Given the description of an element on the screen output the (x, y) to click on. 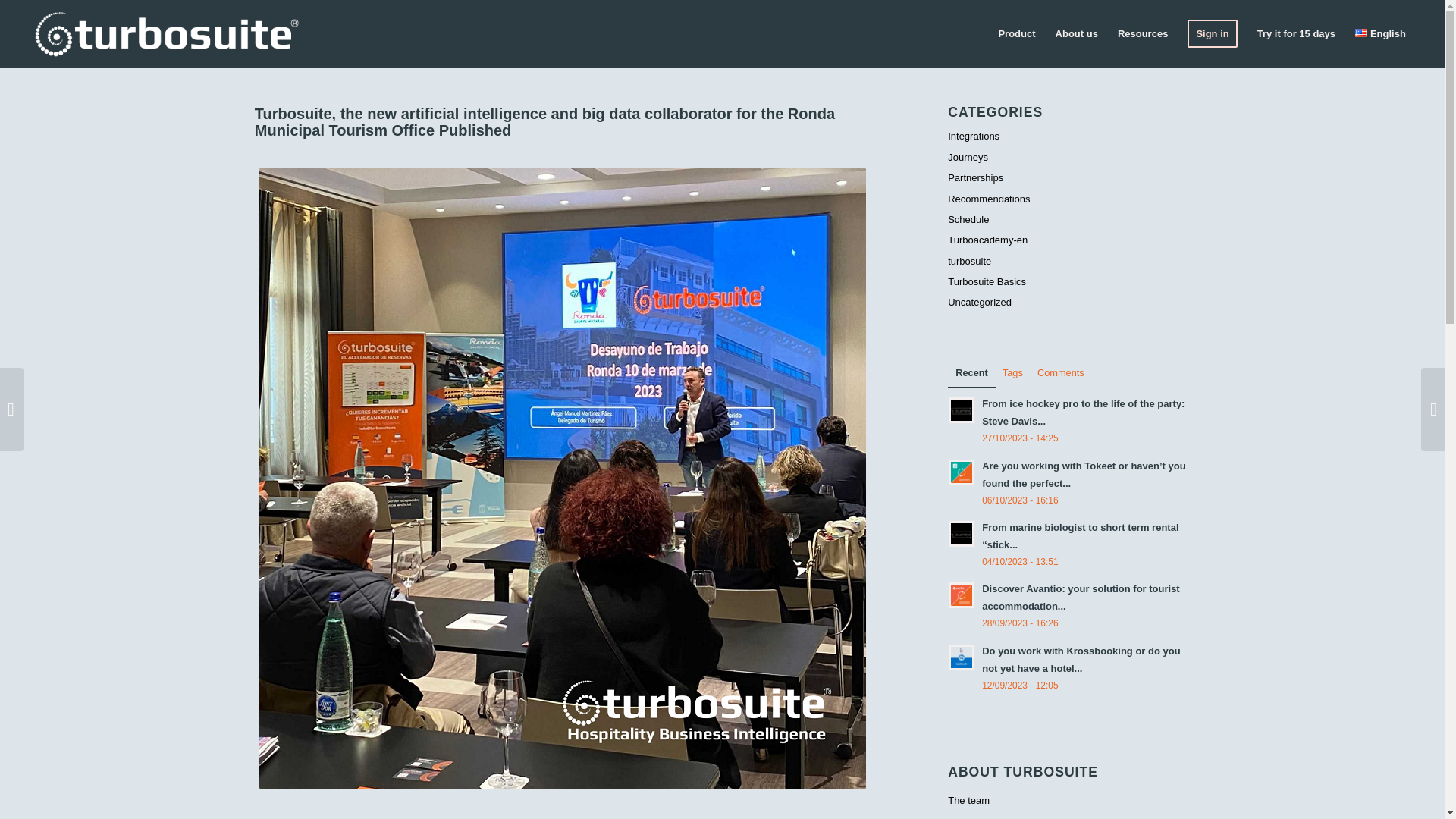
Try it for 15 days (1296, 33)
Product (1016, 33)
English (1380, 33)
About us (1076, 33)
Resources (1142, 33)
Sign in (1211, 33)
